Given the description of an element on the screen output the (x, y) to click on. 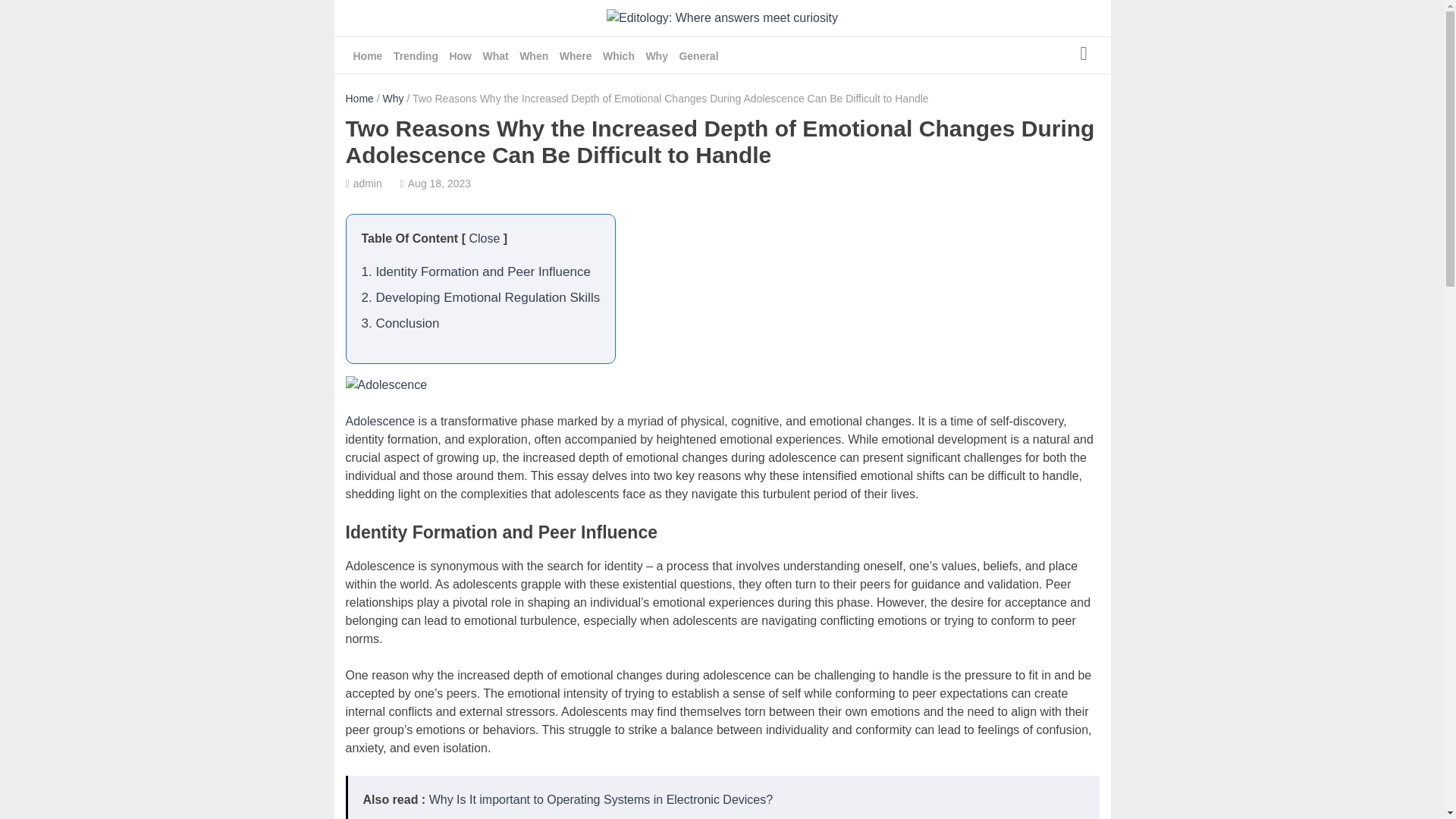
Home (360, 98)
3. Conclusion (400, 323)
Trending (415, 55)
1. Identity Formation and Peer Influence (475, 271)
General (697, 55)
Why (393, 98)
Adolescence (380, 420)
2. Developing Emotional Regulation Skills (480, 297)
Close (483, 237)
